Given the description of an element on the screen output the (x, y) to click on. 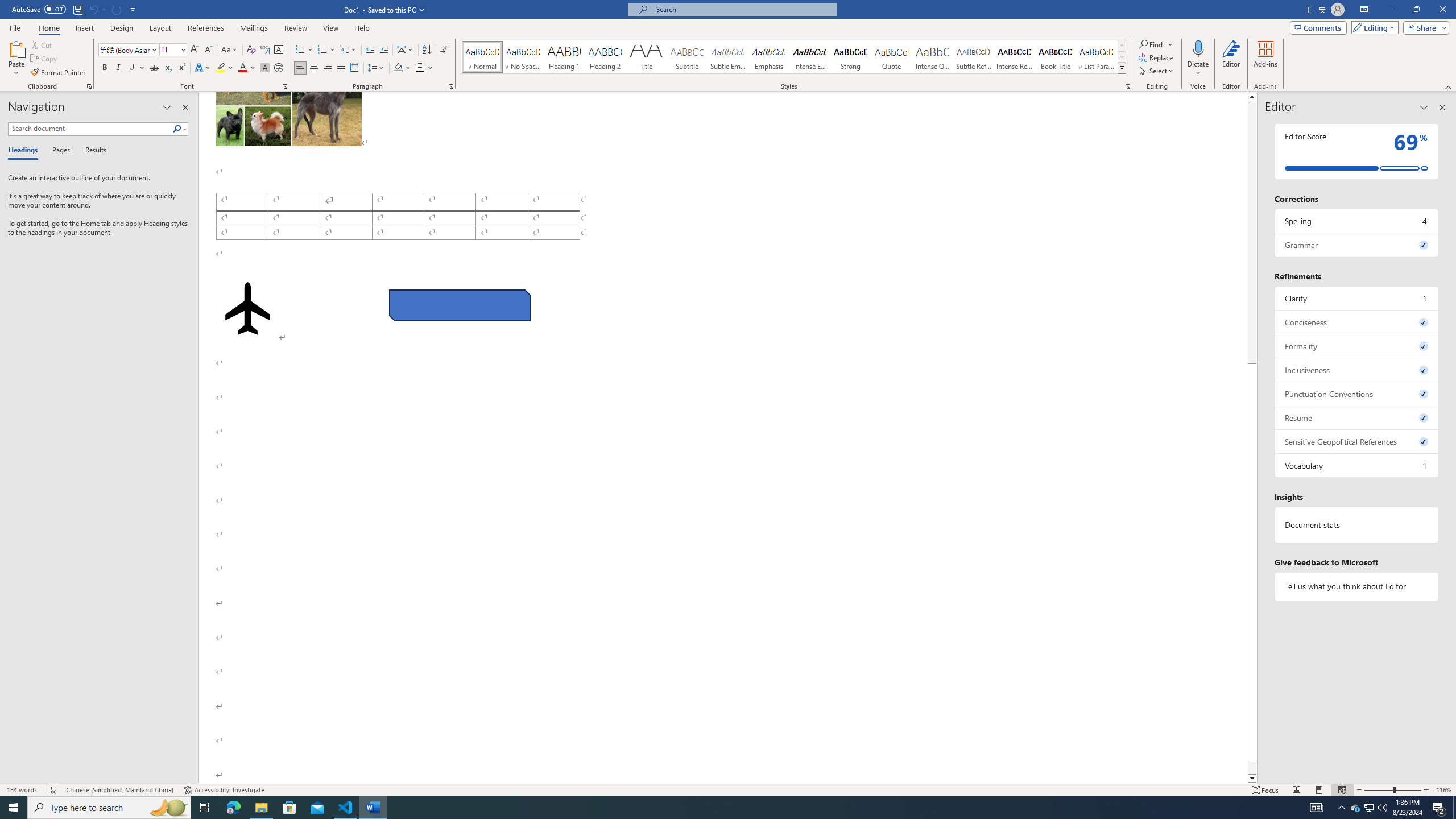
Font Color Red (241, 67)
